Given the description of an element on the screen output the (x, y) to click on. 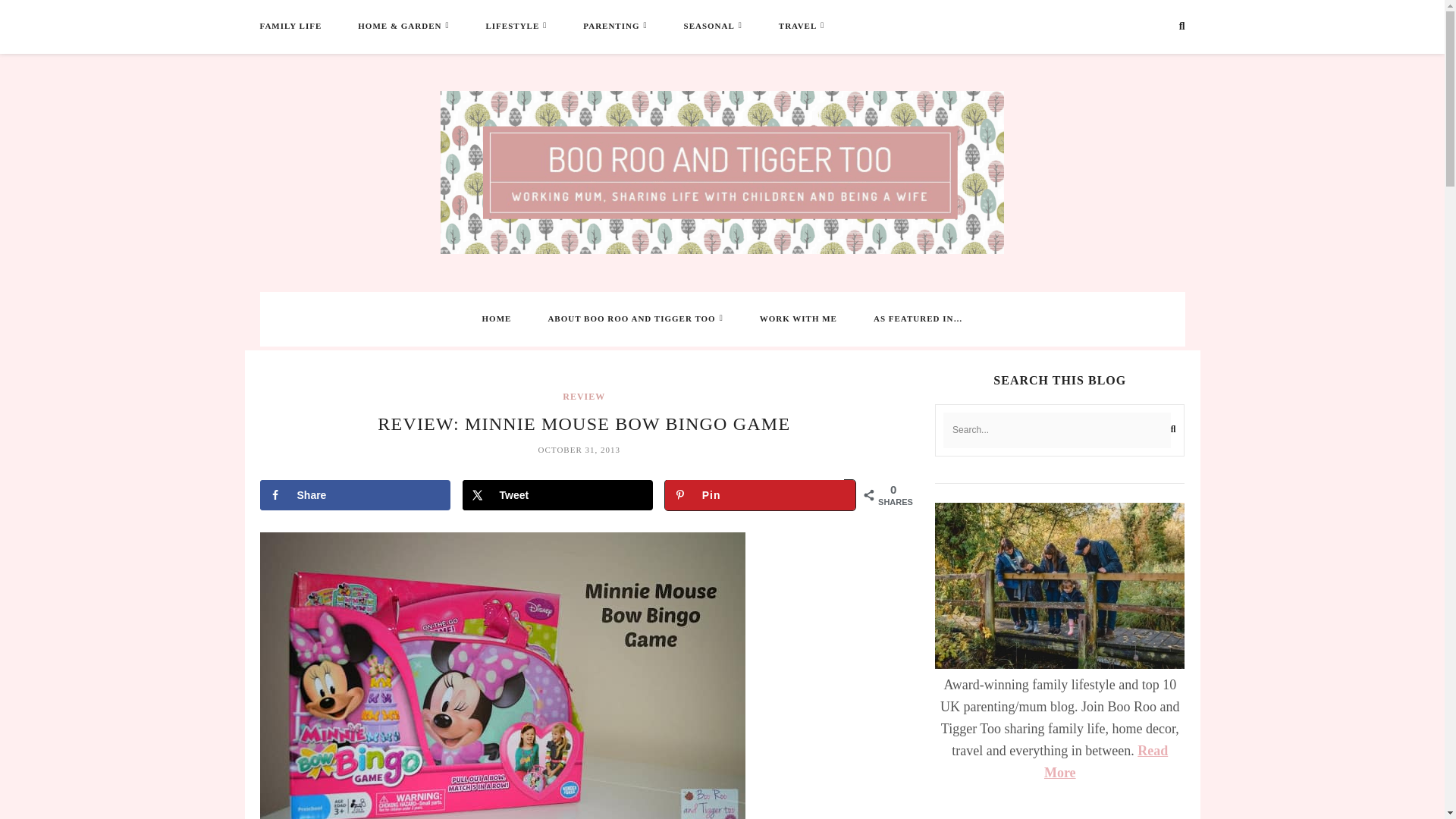
Share on Facebook (354, 494)
FAMILY LIFE (290, 25)
PARENTING (611, 25)
Share on X (557, 494)
LIFESTYLE (511, 25)
SEASONAL (709, 25)
Save to Pinterest (760, 494)
